Given the description of an element on the screen output the (x, y) to click on. 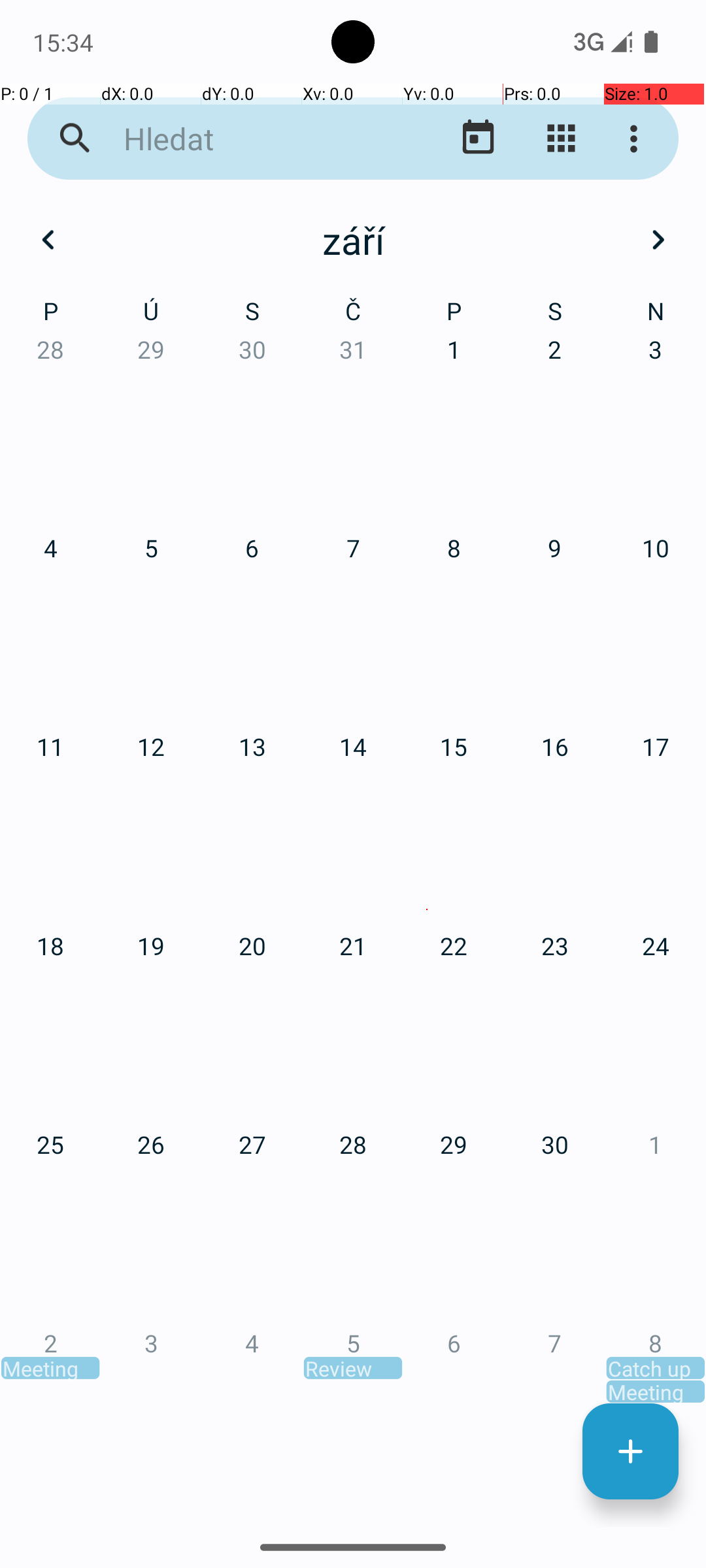
Přejít na dnešní datum Element type: android.widget.Button (477, 138)
září Element type: android.widget.TextView (352, 239)
